Given the description of an element on the screen output the (x, y) to click on. 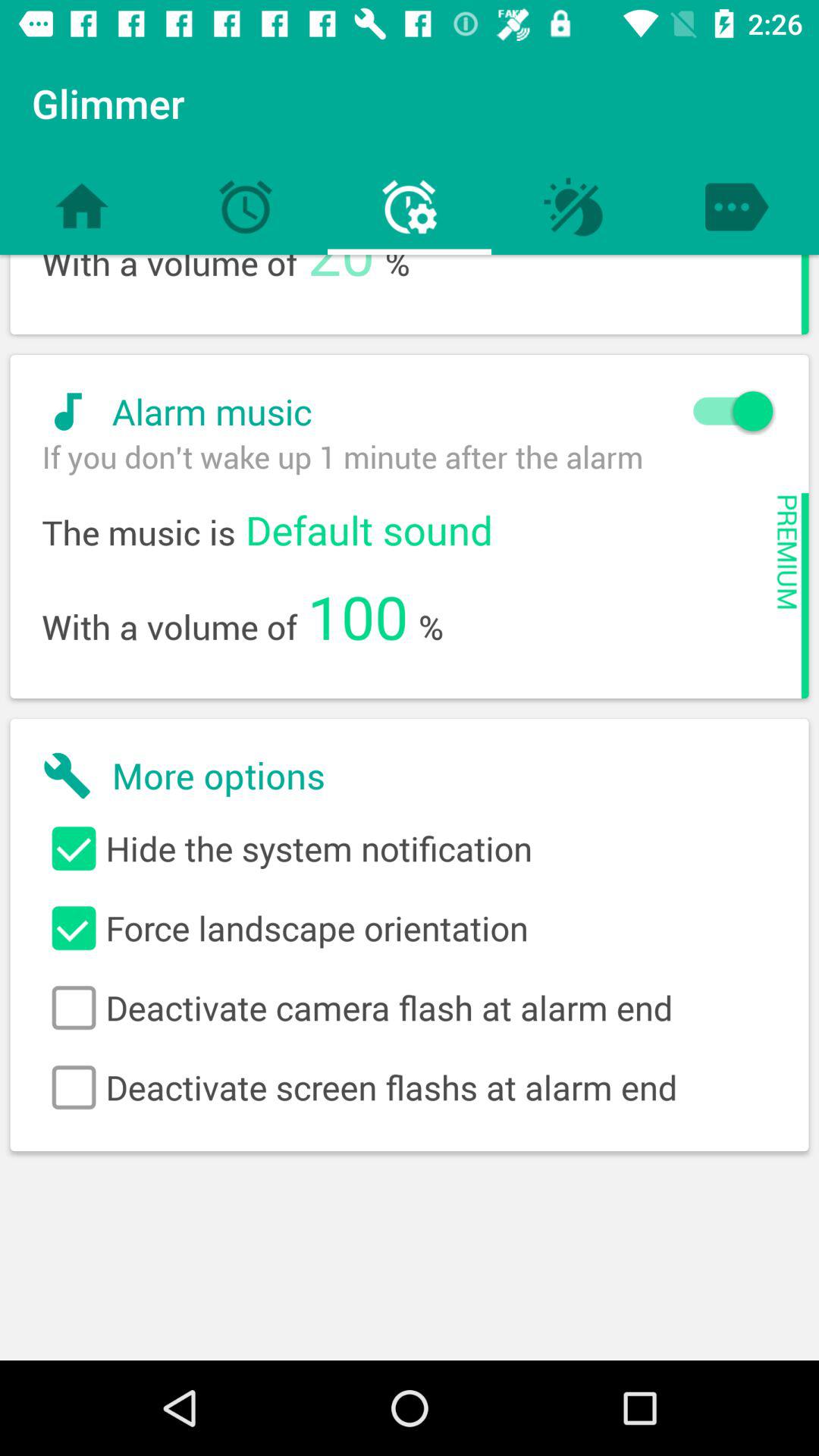
choose deactivate screen flashs item (409, 1087)
